Given the description of an element on the screen output the (x, y) to click on. 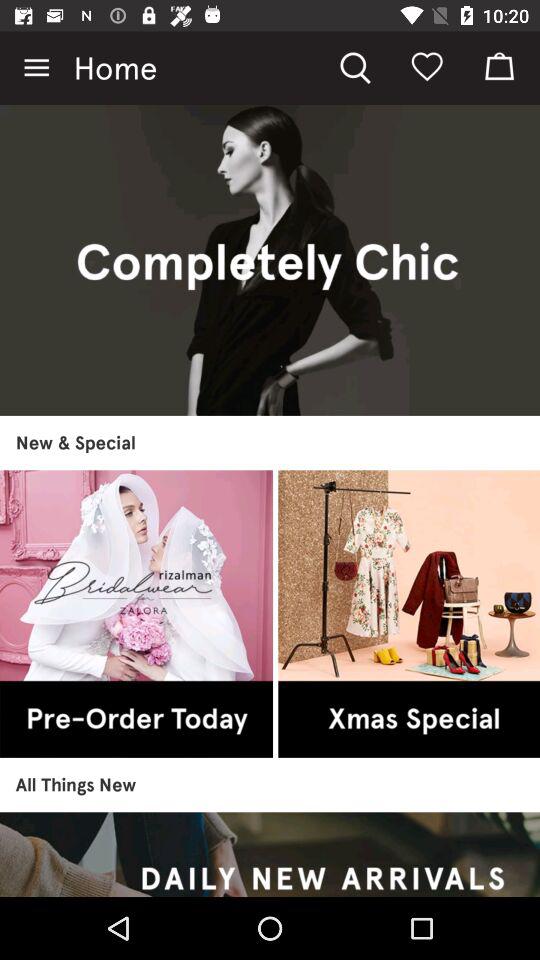
press the item to the left of the home icon (36, 68)
